Given the description of an element on the screen output the (x, y) to click on. 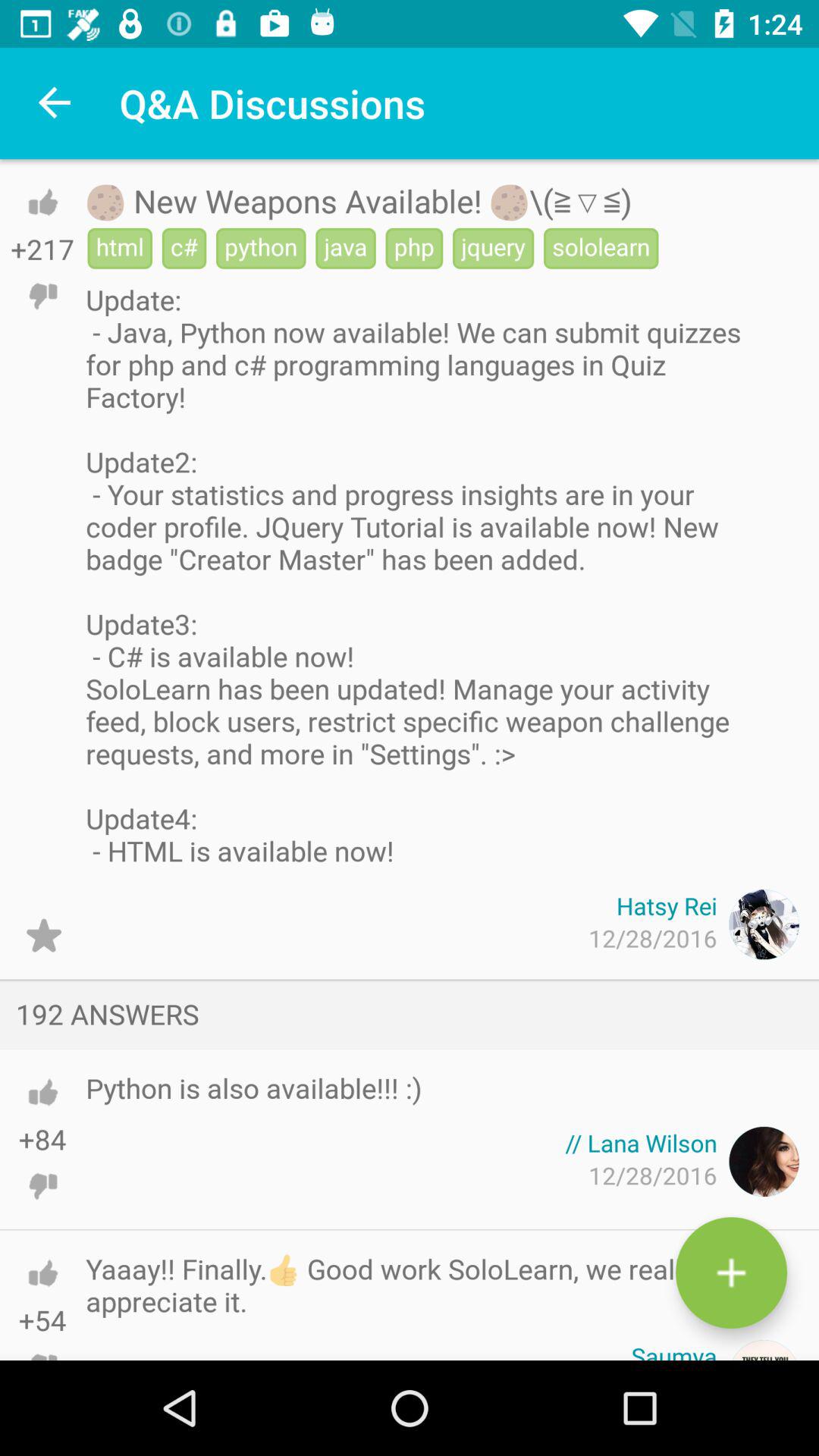
dislike the answer (42, 1342)
